Given the description of an element on the screen output the (x, y) to click on. 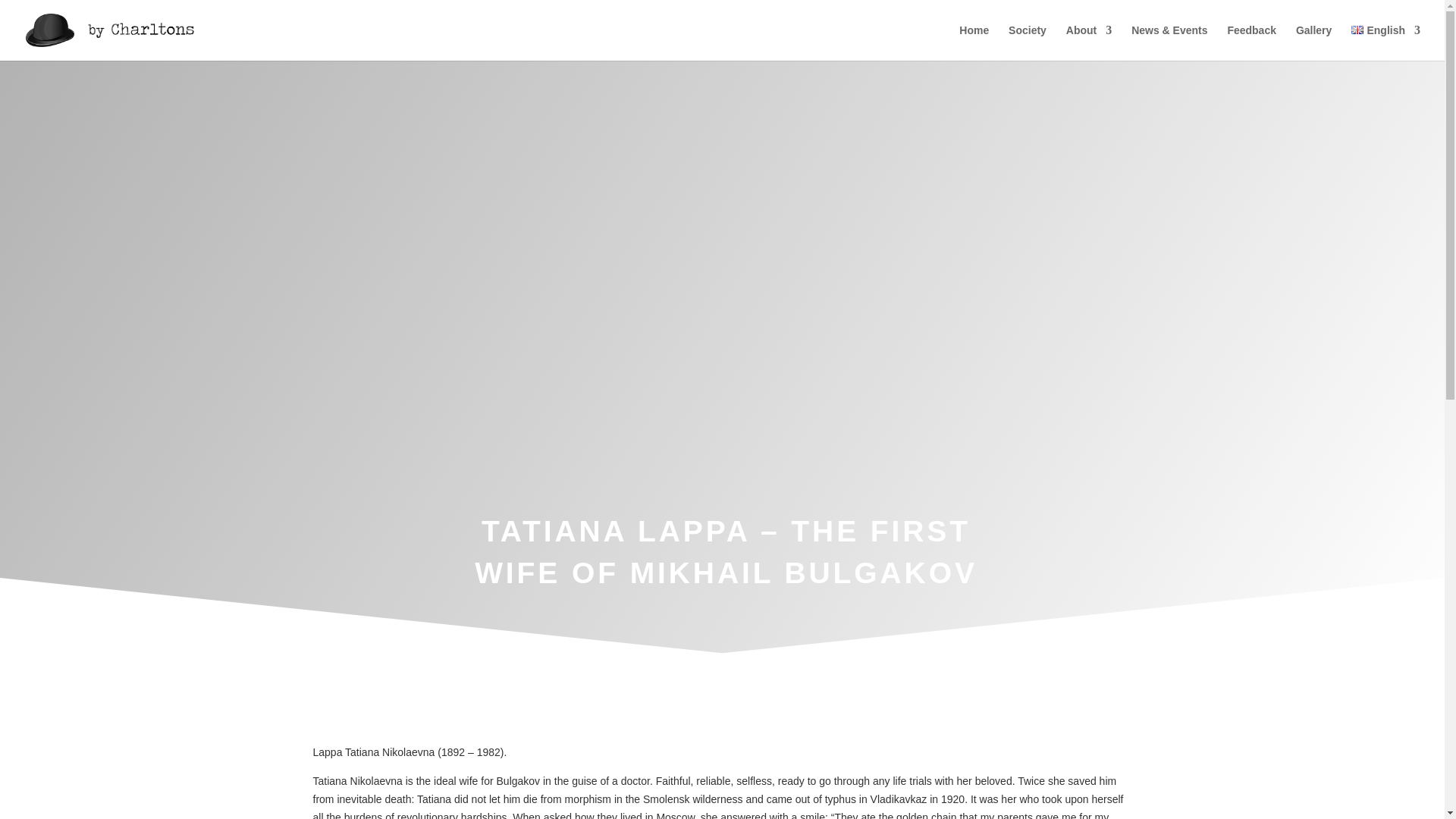
Feedback (1251, 42)
English (1386, 42)
Home (973, 42)
Gallery (1313, 42)
Society (1027, 42)
About (1088, 42)
